Given the description of an element on the screen output the (x, y) to click on. 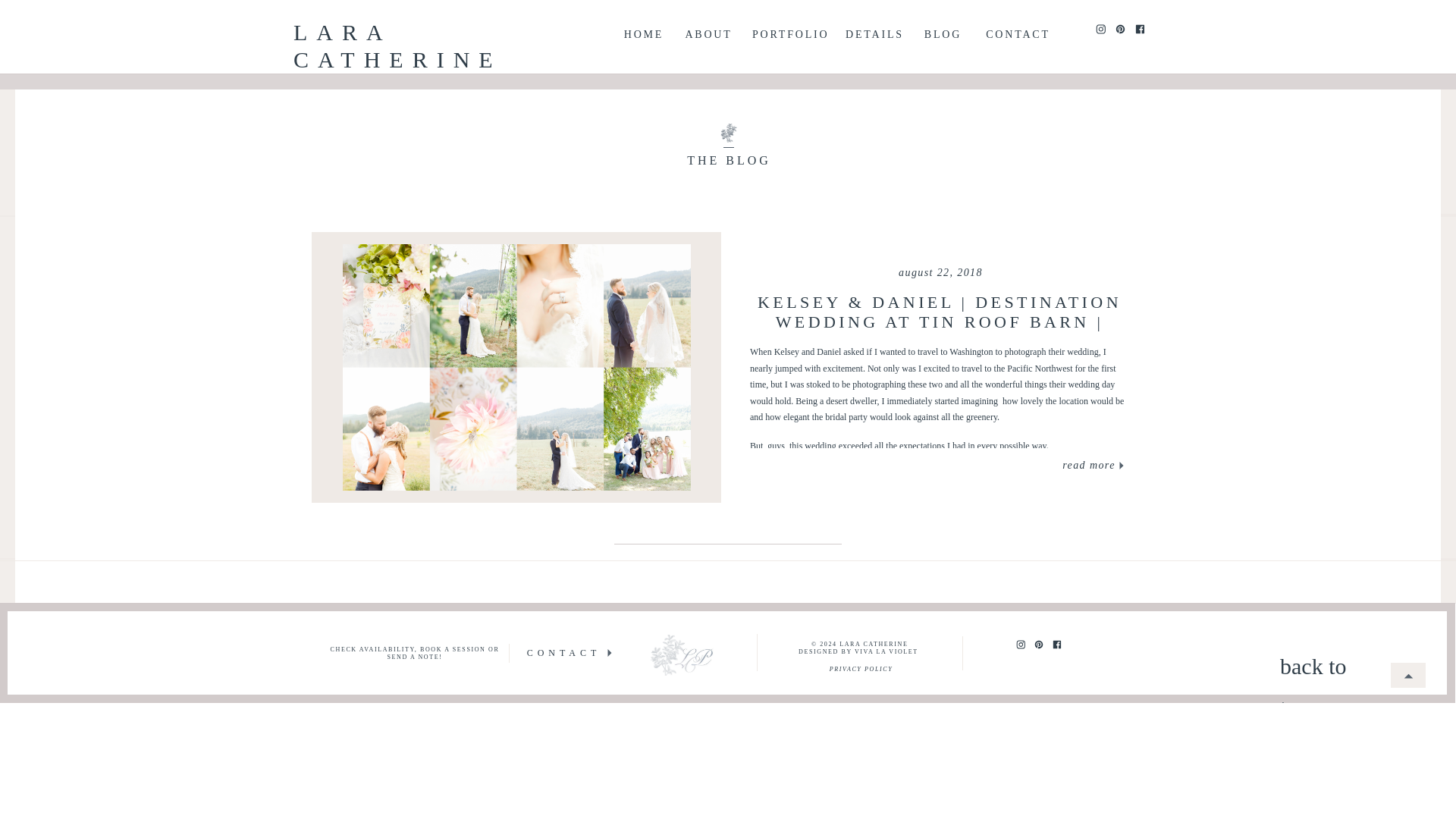
Instagram-color Created with Sketch. (1100, 29)
Facebook Copy-color Created with Sketch. (1139, 29)
LARA CATHERINE (452, 33)
DETAILS (874, 30)
Instagram-color Created with Sketch. (1100, 29)
BLOG (942, 30)
Facebook Copy-color Created with Sketch. (1139, 29)
PORTFOLIO (788, 30)
Facebook Copy-color Created with Sketch. (1056, 644)
Instagram-color Created with Sketch. (1020, 643)
